Given the description of an element on the screen output the (x, y) to click on. 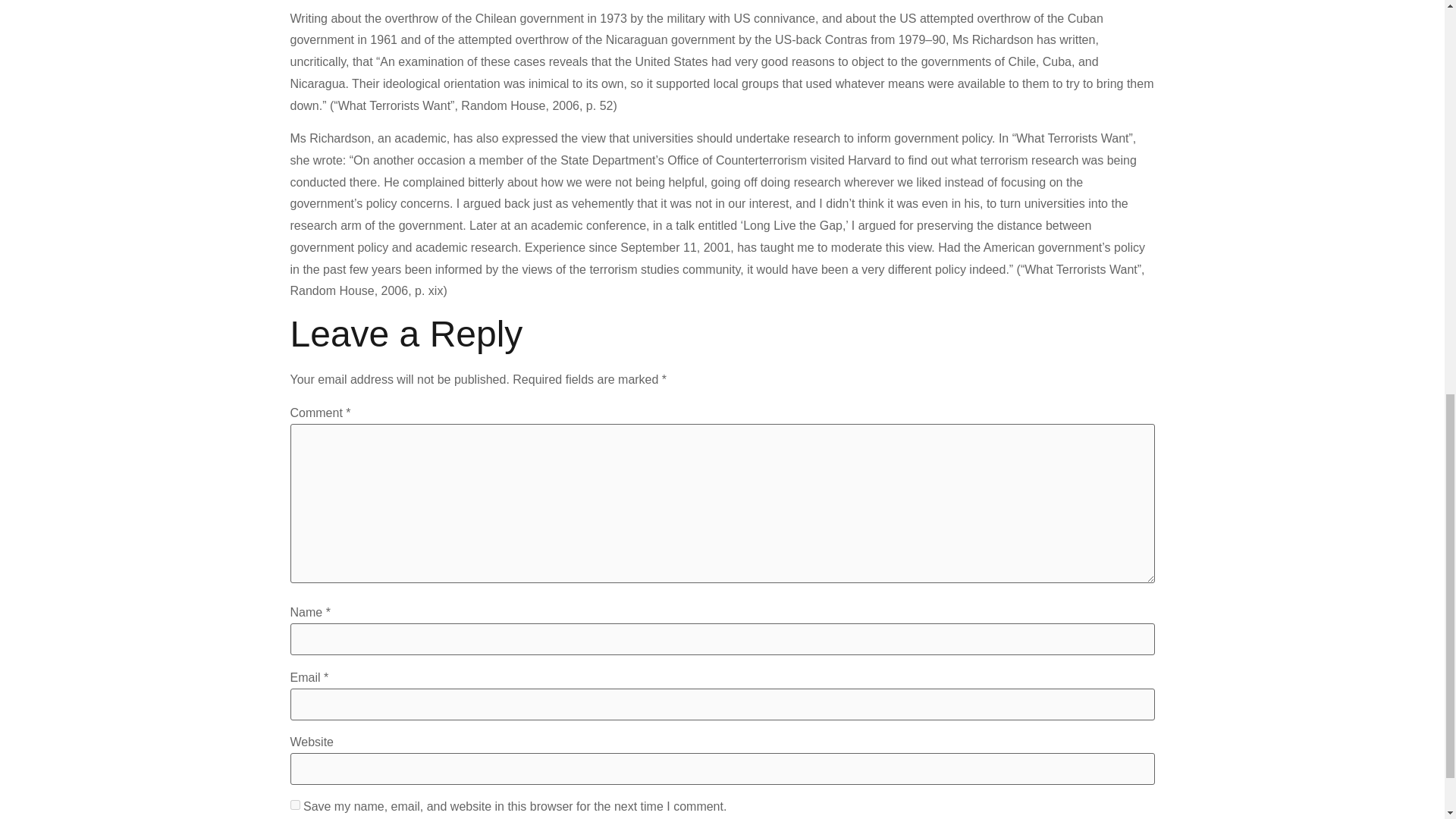
yes (294, 804)
